Given the description of an element on the screen output the (x, y) to click on. 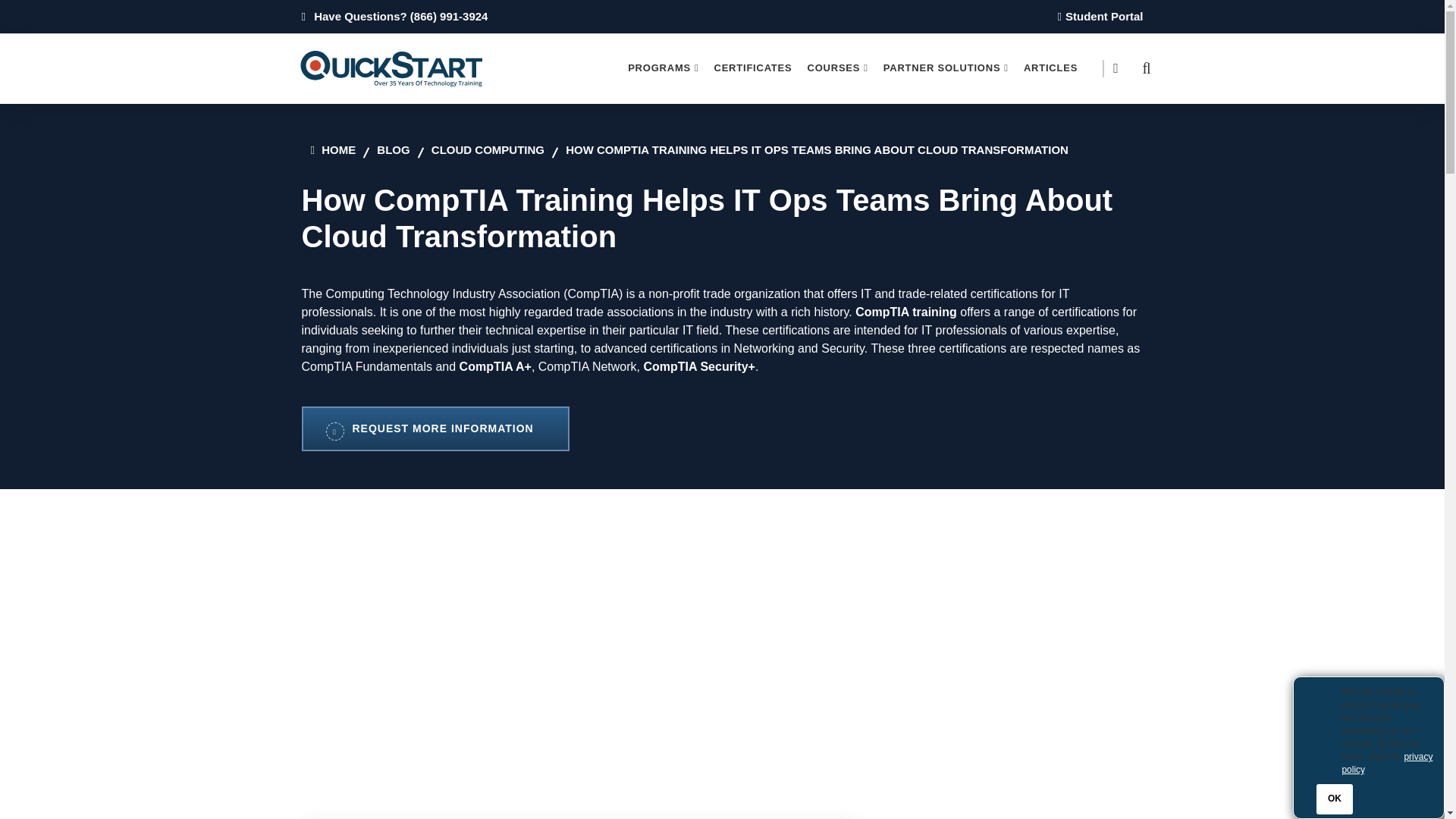
Student Portal (1095, 16)
COURSES (837, 68)
PROGRAMS (663, 68)
PARTNER SOLUTIONS (946, 68)
OK (1334, 798)
CERTIFICATES (752, 68)
ARTICLES (1050, 68)
privacy policy (1386, 762)
